Given the description of an element on the screen output the (x, y) to click on. 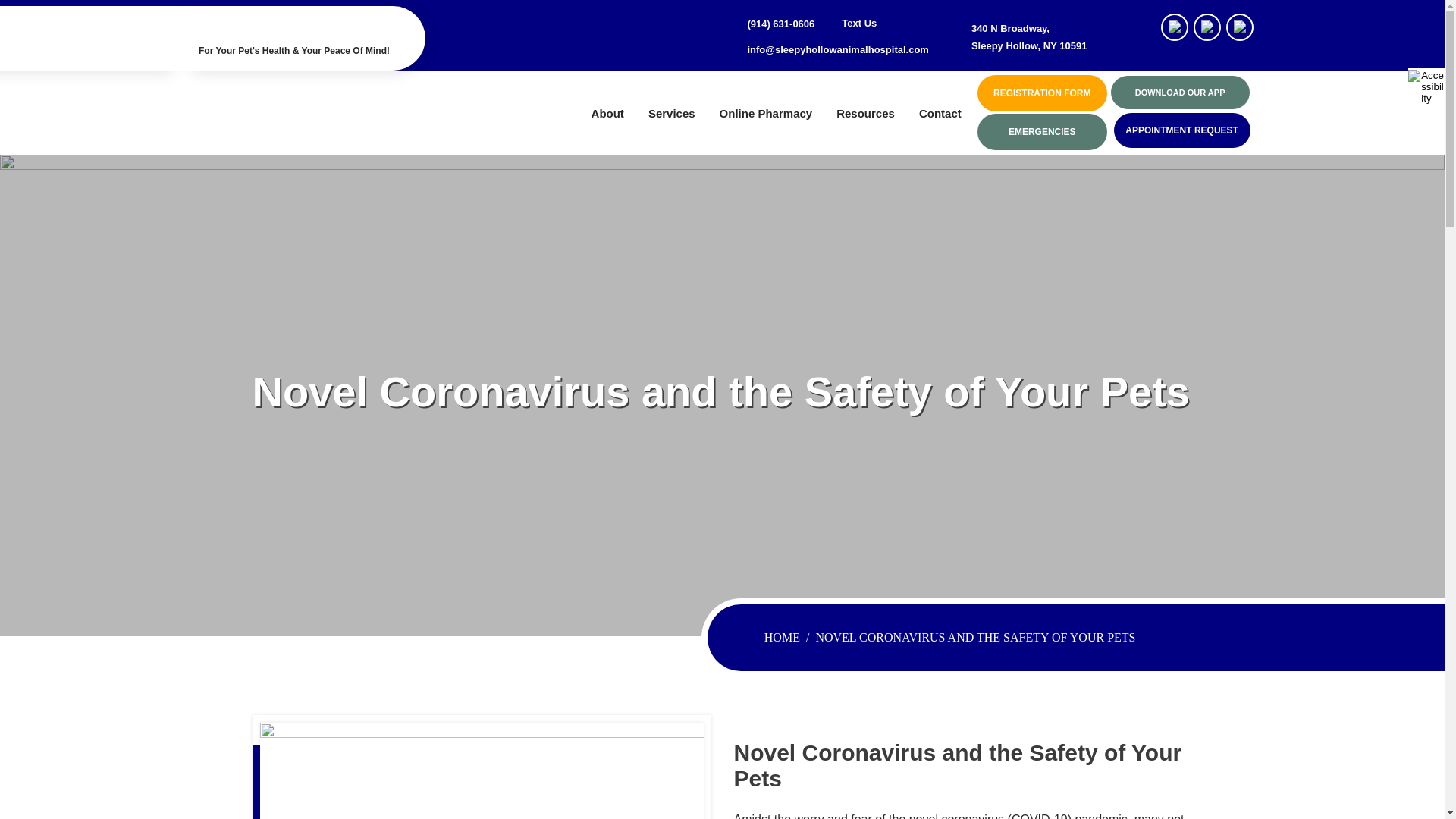
Coronavirus-strip1 (481, 770)
